Given the description of an element on the screen output the (x, y) to click on. 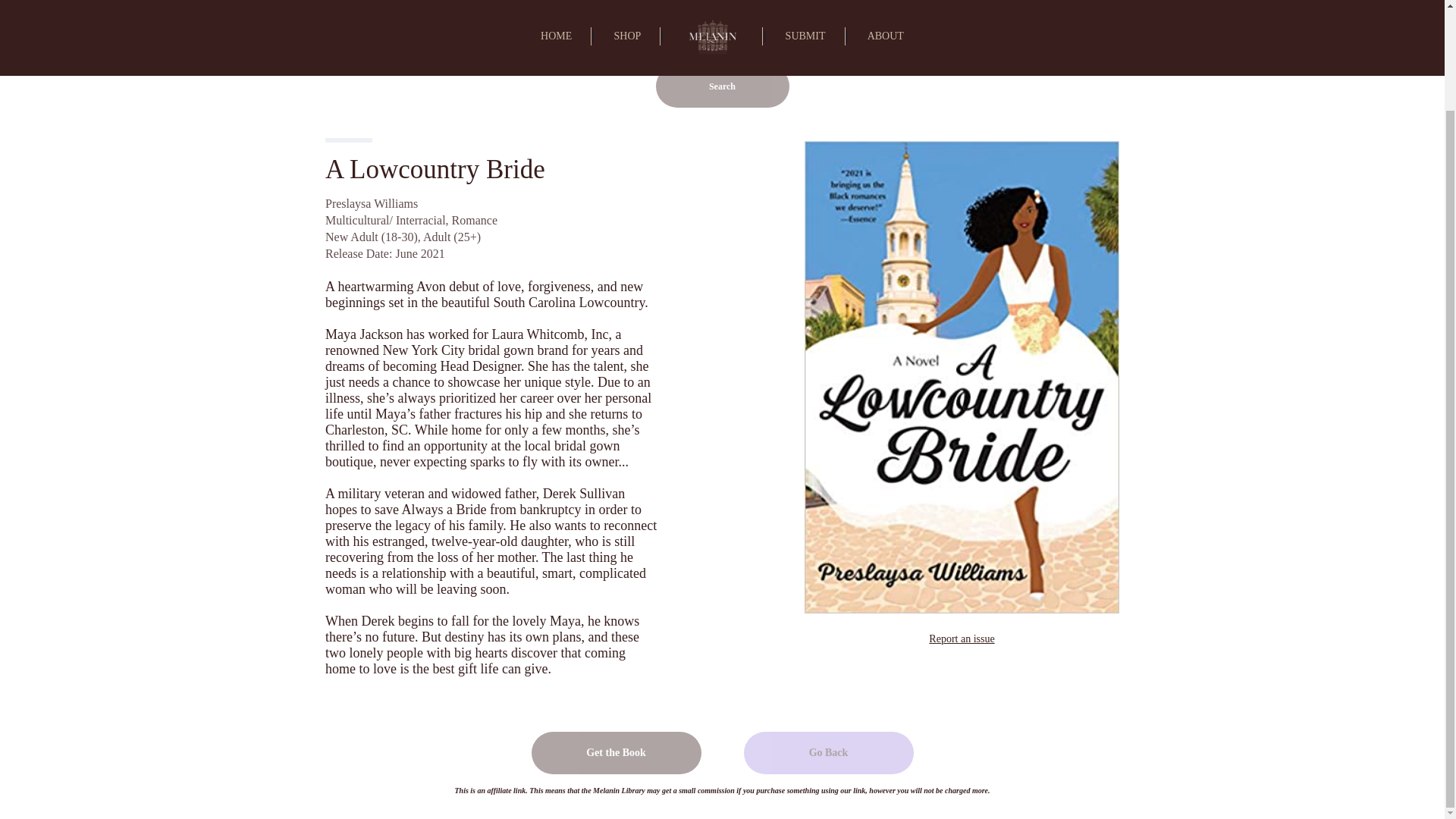
Go Back (827, 752)
Get the Book (615, 752)
Search (722, 86)
